Given the description of an element on the screen output the (x, y) to click on. 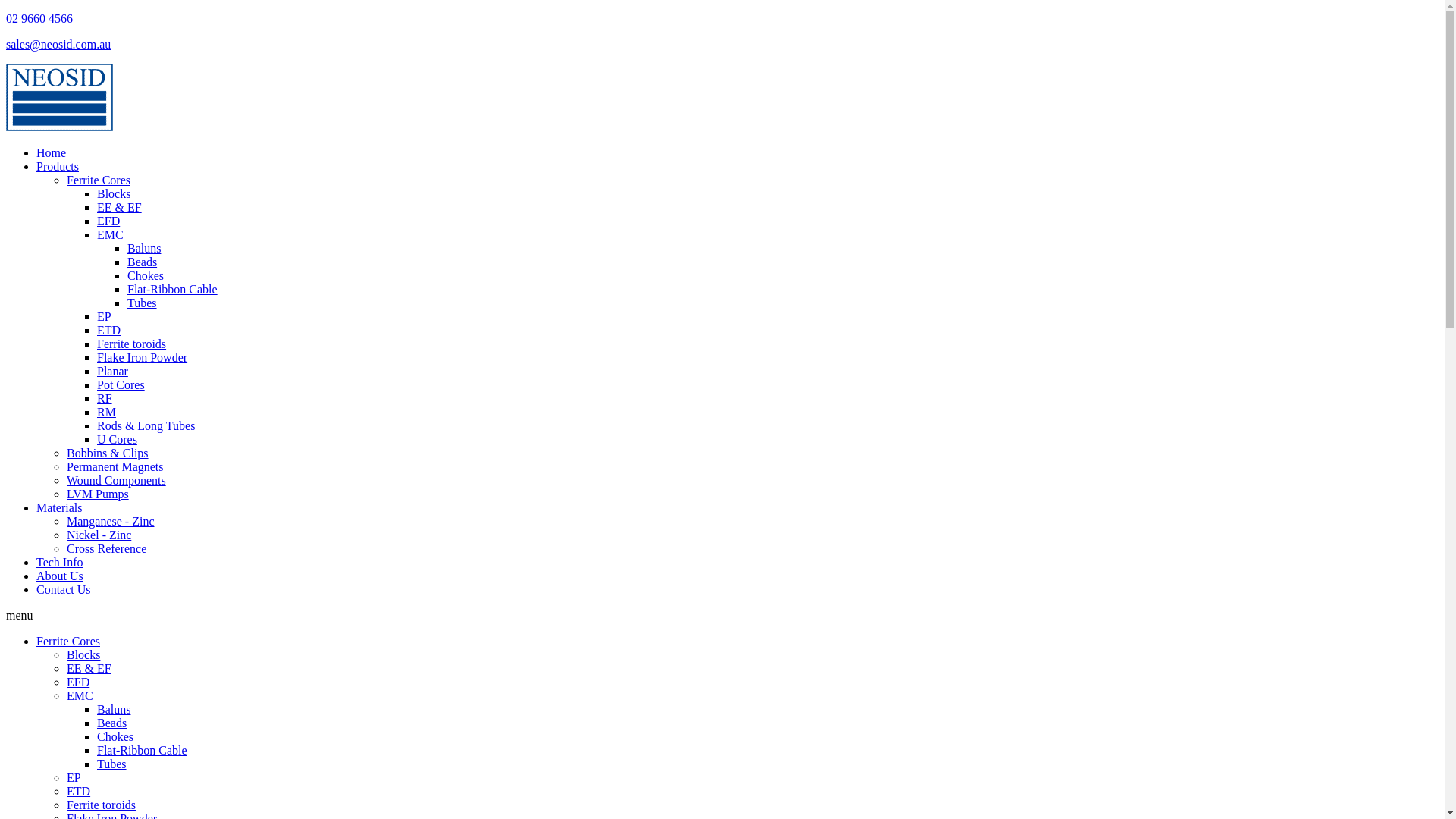
Products Element type: text (57, 166)
Baluns Element type: text (113, 708)
Blocks Element type: text (83, 654)
Ferrite toroids Element type: text (131, 343)
Ferrite Cores Element type: text (98, 179)
EFD Element type: text (108, 220)
LVM Pumps Element type: text (97, 493)
EP Element type: text (104, 316)
Chokes Element type: text (145, 275)
Ferrite Cores Element type: text (68, 640)
EFD Element type: text (77, 681)
Chokes Element type: text (115, 736)
Tubes Element type: text (111, 763)
Rods & Long Tubes Element type: text (145, 425)
Wound Components Element type: text (116, 479)
EP Element type: text (73, 777)
Beads Element type: text (111, 722)
Planar Element type: text (112, 370)
Contact Us Element type: text (63, 589)
ETD Element type: text (78, 790)
RM Element type: text (106, 411)
sales@neosid.com.au Element type: text (58, 43)
Ferrite toroids Element type: text (100, 804)
Manganese - Zinc Element type: text (110, 520)
Bobbins & Clips Element type: text (107, 452)
Materials Element type: text (58, 507)
EE & EF Element type: text (88, 668)
Flat-Ribbon Cable Element type: text (142, 749)
EMC Element type: text (110, 234)
Cross Reference Element type: text (106, 548)
Flake Iron Powder Element type: text (142, 357)
About Us Element type: text (59, 575)
ETD Element type: text (108, 329)
Beads Element type: text (141, 261)
EMC Element type: text (79, 695)
Flat-Ribbon Cable Element type: text (172, 288)
Pot Cores Element type: text (120, 384)
02 9660 4566 Element type: text (39, 18)
RF Element type: text (104, 398)
Blocks Element type: text (113, 193)
Nickel - Zinc Element type: text (98, 534)
Permanent Magnets Element type: text (114, 466)
EE & EF Element type: text (119, 206)
Tubes Element type: text (141, 302)
U Cores Element type: text (117, 439)
Tech Info Element type: text (59, 561)
Baluns Element type: text (143, 247)
Home Element type: text (50, 152)
